Given the description of an element on the screen output the (x, y) to click on. 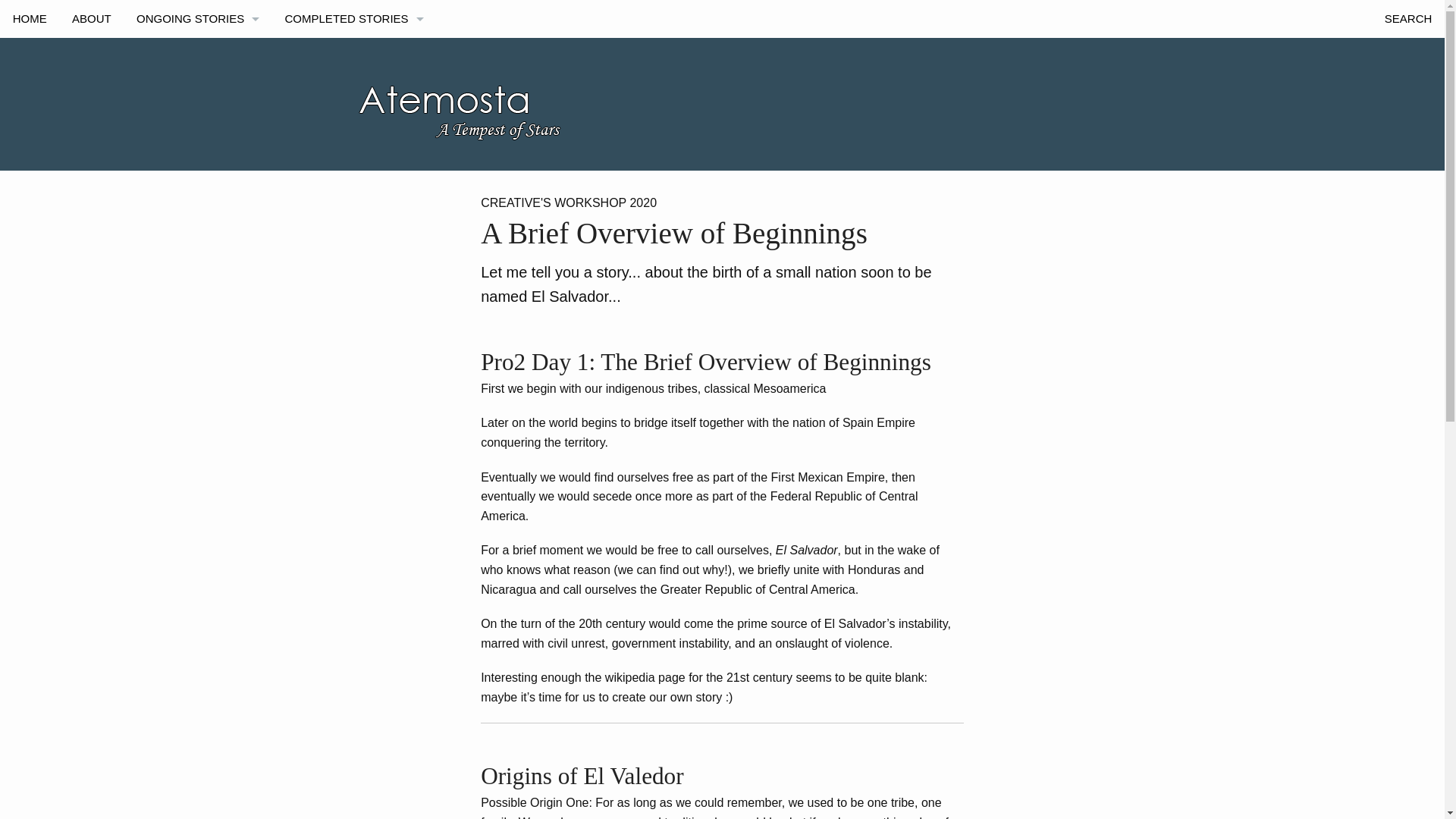
ONE SHOTS (353, 56)
ONGOING STORIES (197, 18)
COMPLETED STORIES (353, 18)
THE GRAND CHALLENGE (197, 56)
HOME (29, 18)
ABOUT (91, 18)
